Given the description of an element on the screen output the (x, y) to click on. 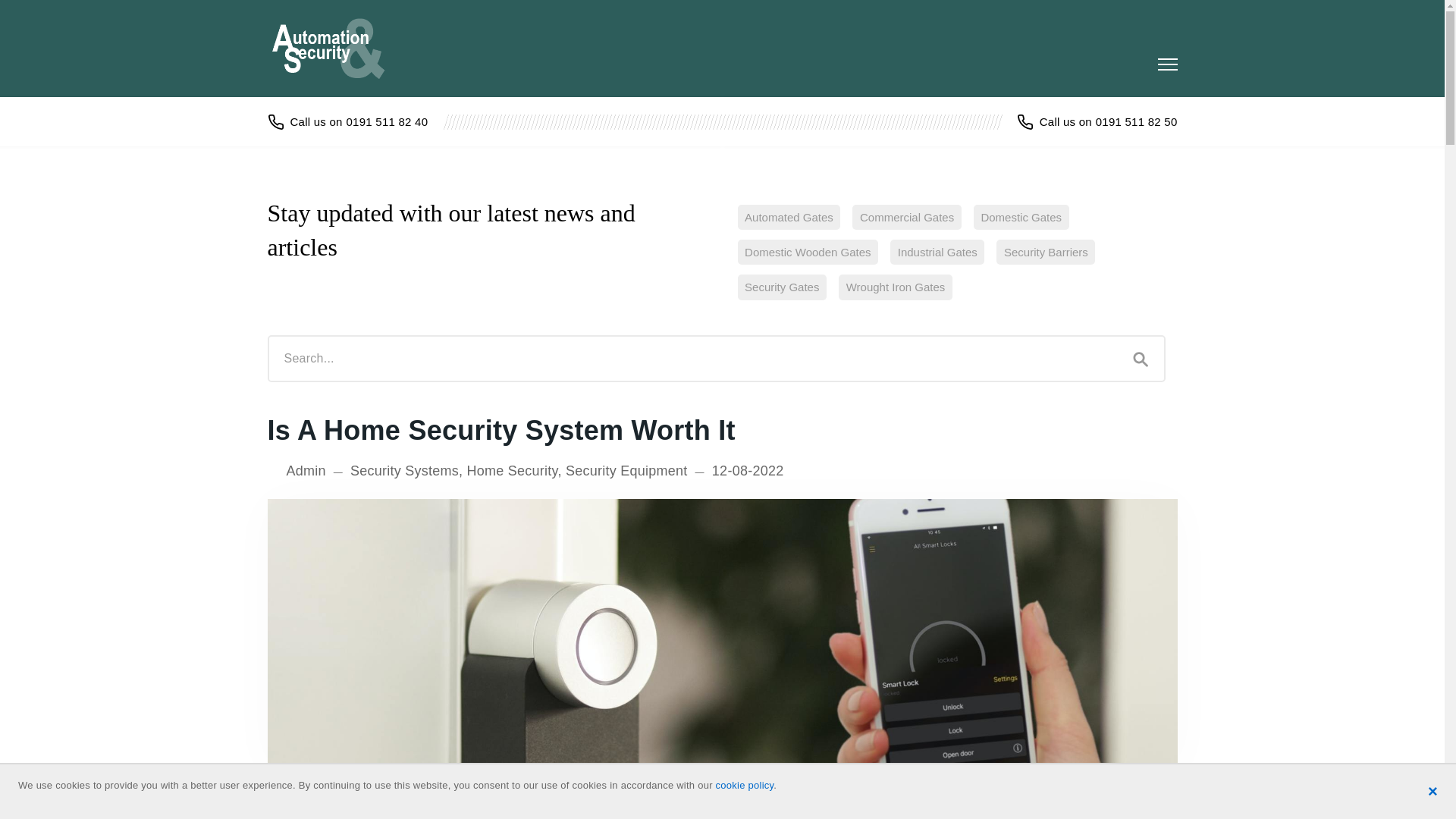
Domestic Gates (1021, 217)
Home (336, 48)
Security Barriers (1044, 251)
Industrial Gates (936, 251)
0191 511 82 50 (1096, 121)
Domestic Wooden Gates (806, 251)
Navigation (1166, 64)
Security Gates (781, 286)
0191 511 82 40 (347, 121)
Wrought Iron Gates (895, 286)
Search (1140, 358)
Commercial Gates (905, 217)
Search (1140, 358)
Automated Gates (788, 217)
